Given the description of an element on the screen output the (x, y) to click on. 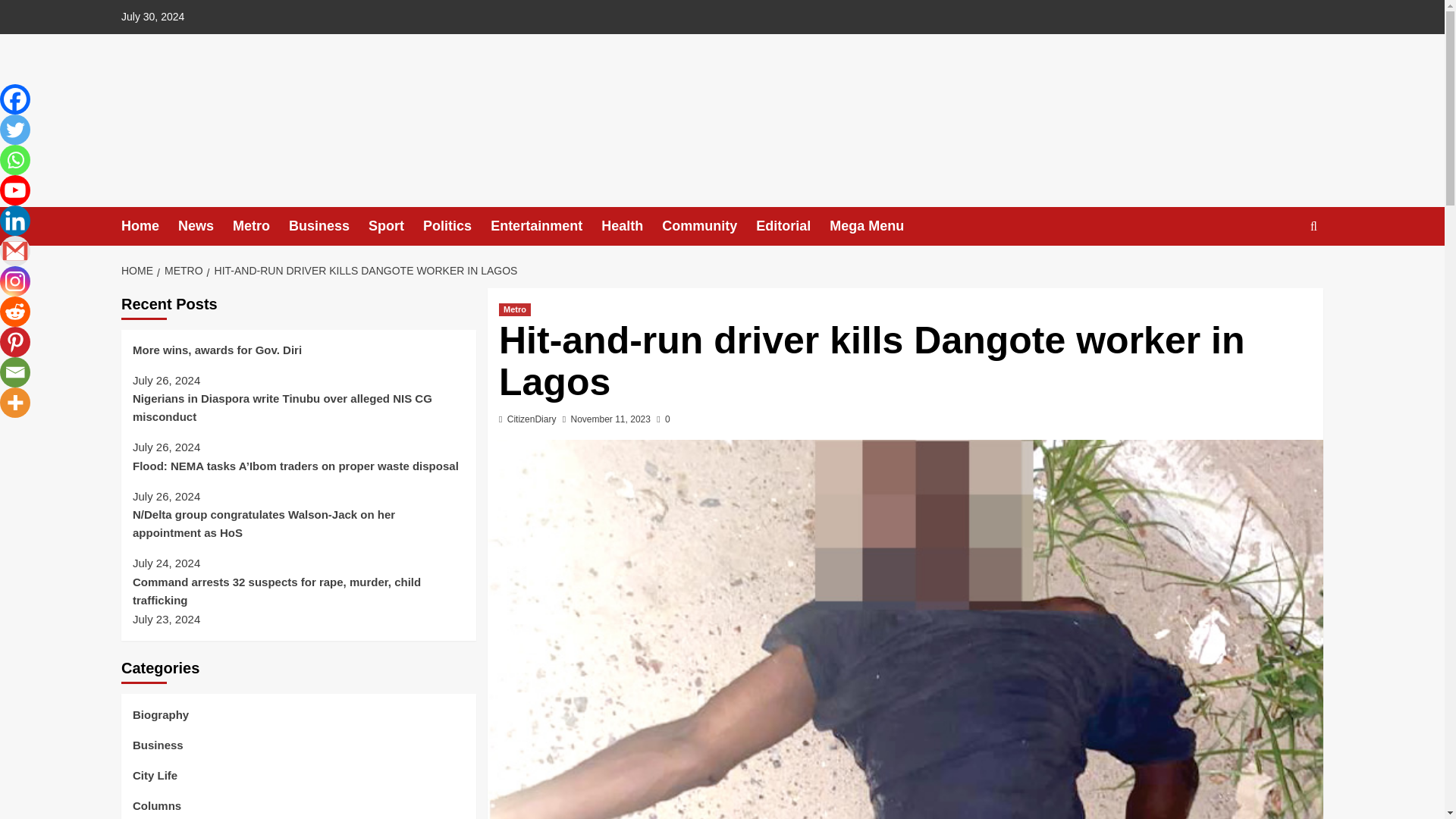
November 11, 2023 (609, 419)
Home (148, 226)
Sport (395, 226)
Metro (515, 309)
Politics (456, 226)
News (204, 226)
Instagram (15, 281)
Search (1278, 273)
Linkedin (15, 220)
Metro (260, 226)
Editorial (792, 226)
More (15, 402)
Facebook (15, 99)
Business (328, 226)
Community (708, 226)
